Given the description of an element on the screen output the (x, y) to click on. 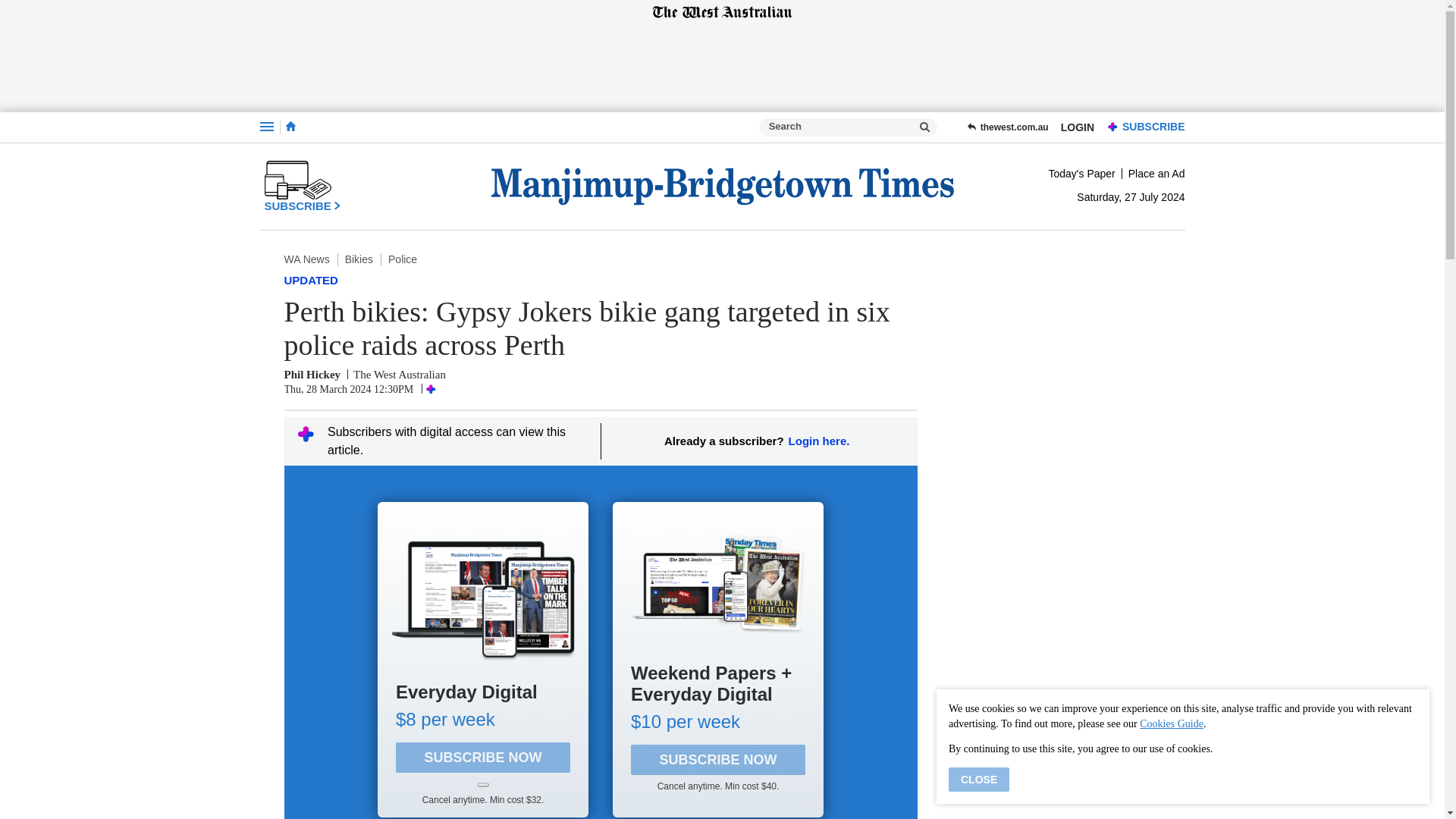
CHEVRON RIGHT ICON (337, 205)
Please enter a search term. (924, 127)
Home (290, 126)
Home (290, 126)
PREMIUMSUBSCRIBE (1142, 127)
thewest.com.au (1007, 127)
PREMIUM (1112, 126)
Menu (266, 126)
SUBSCRIBE CHEVRON RIGHT ICON (302, 185)
LOGIN (1077, 127)
